Given the description of an element on the screen output the (x, y) to click on. 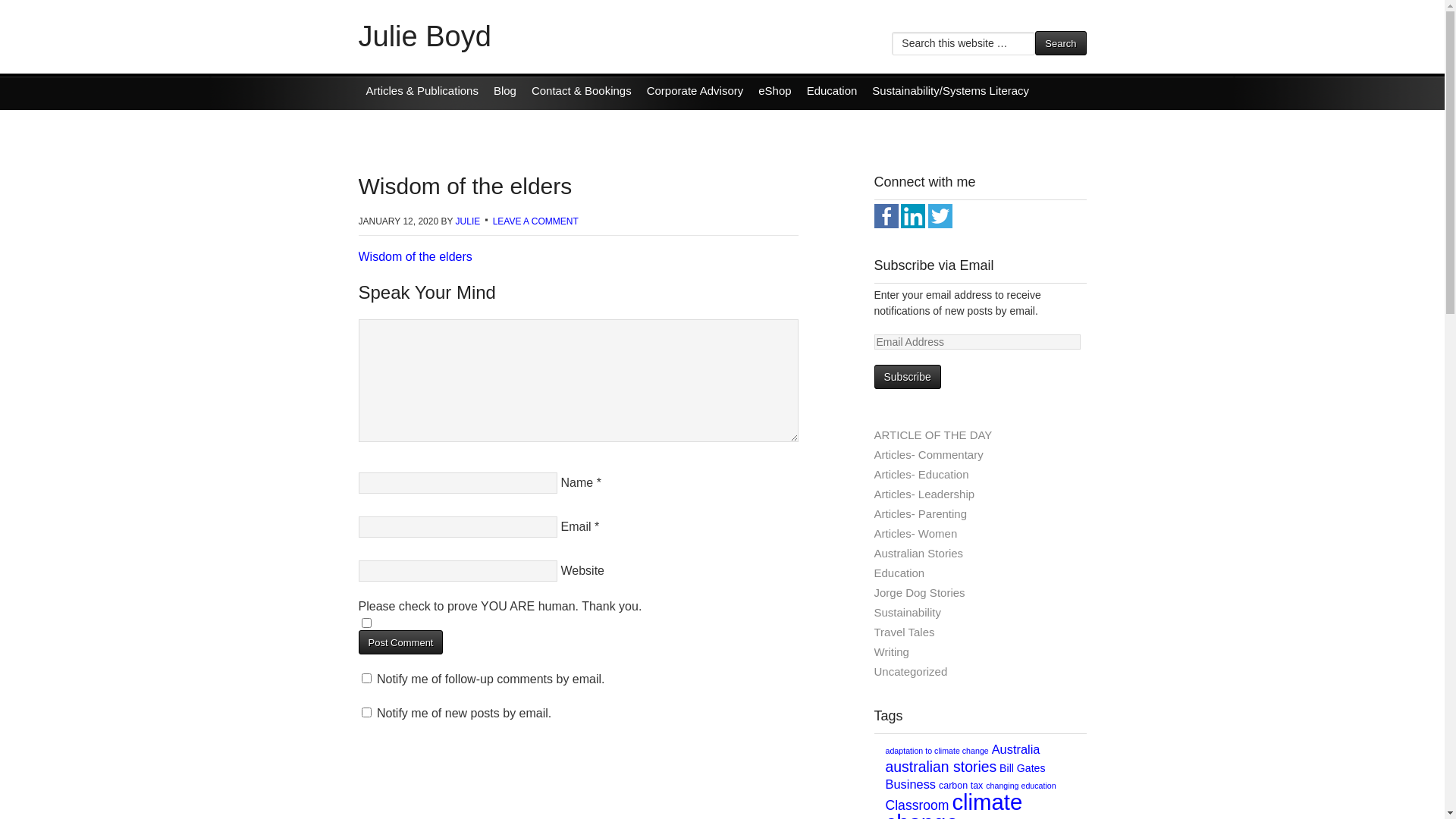
Australian Stories Element type: text (979, 553)
Subscribe Element type: text (906, 376)
Julie Boyd Element type: text (423, 36)
Education Element type: text (832, 90)
JULIE Element type: text (467, 220)
Linkedin Element type: hover (912, 224)
eShop Element type: text (774, 90)
Articles- Parenting Element type: text (979, 513)
adaptation to climate change Element type: text (936, 750)
Search Element type: text (1060, 43)
LEAVE A COMMENT Element type: text (535, 220)
ARTICLE OF THE DAY Element type: text (979, 434)
Facebook Element type: hover (885, 224)
Blog Element type: text (505, 90)
Twitter Element type: hover (940, 224)
Sustainability/Systems Literacy Element type: text (950, 90)
Classroom Element type: text (917, 804)
Wisdom of the elders Element type: text (414, 256)
Writing Element type: text (979, 651)
Articles- Women Element type: text (979, 533)
Articles & Publications Element type: text (421, 90)
Articles- Leadership Element type: text (979, 494)
Travel Tales Element type: text (979, 632)
Sustainability Element type: text (979, 612)
Women & Leadership Element type: text (419, 124)
Jorge Dog Stories Element type: text (979, 592)
Contact & Bookings Element type: text (581, 90)
Articles- Education Element type: text (979, 474)
Australia Element type: text (1015, 749)
changing education Element type: text (1020, 785)
Corporate Advisory Element type: text (695, 90)
Post Comment Element type: text (399, 641)
Uncategorized Element type: text (979, 671)
Education Element type: text (979, 572)
Articles- Commentary Element type: text (979, 454)
australian stories Element type: text (941, 766)
carbon tax Element type: text (960, 785)
Bill Gates Element type: text (1021, 768)
Business Element type: text (910, 783)
